Given the description of an element on the screen output the (x, y) to click on. 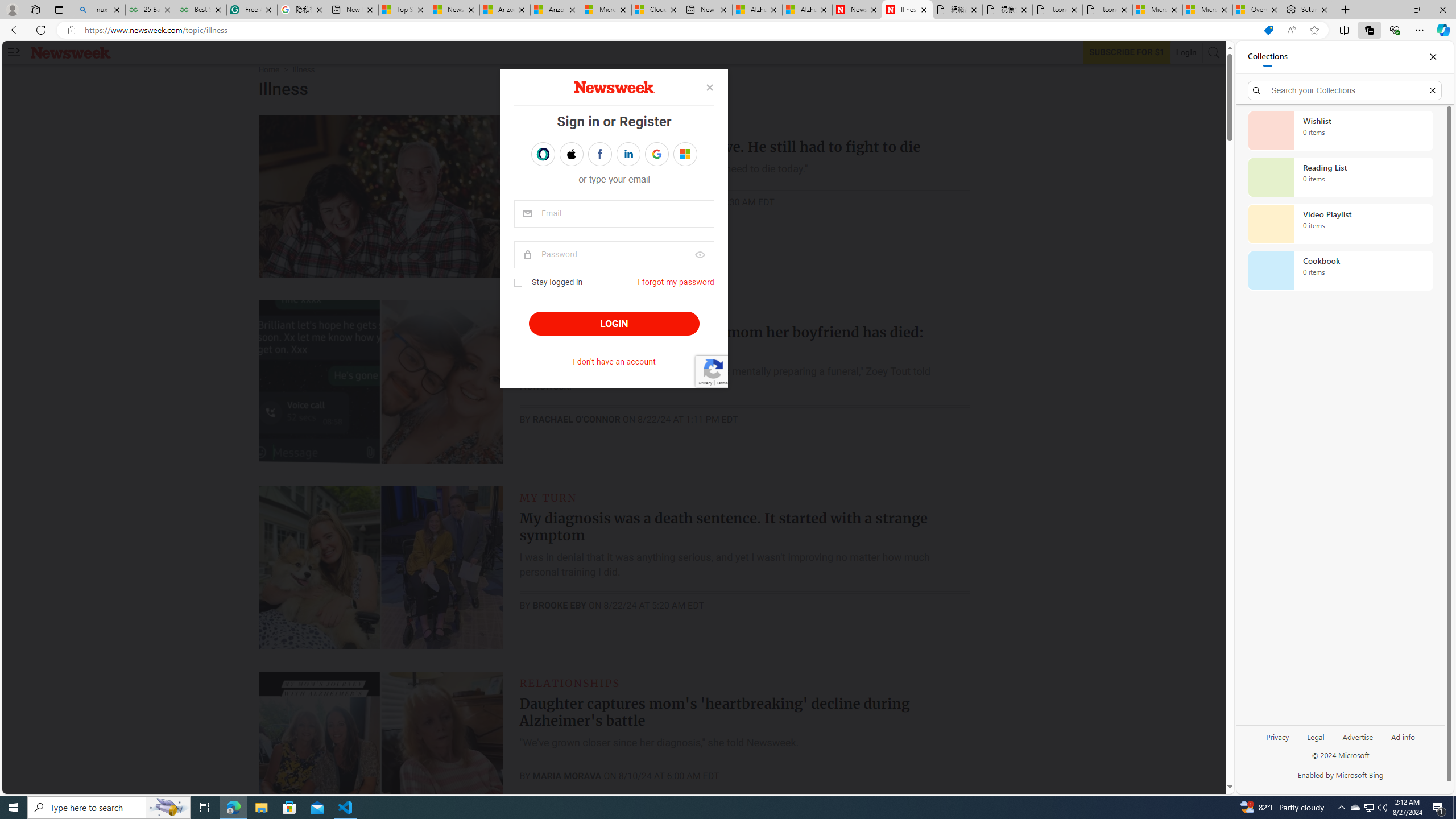
password (613, 254)
Privacy (1278, 736)
Search your Collections (1345, 90)
Overview (1257, 9)
25 Basic Linux Commands For Beginners - GeeksforGeeks (150, 9)
Ad info (1402, 741)
itconcepthk.com/projector_solutions.mp4 (1107, 9)
Sign in as Eugene EugeneLedger601@outlook.com (684, 154)
I forgot my password (675, 282)
Browser essentials (1394, 29)
Login (1186, 51)
Back (13, 29)
Settings and more (Alt+F) (1419, 29)
Advertise (1357, 736)
Terms (721, 382)
